Given the description of an element on the screen output the (x, y) to click on. 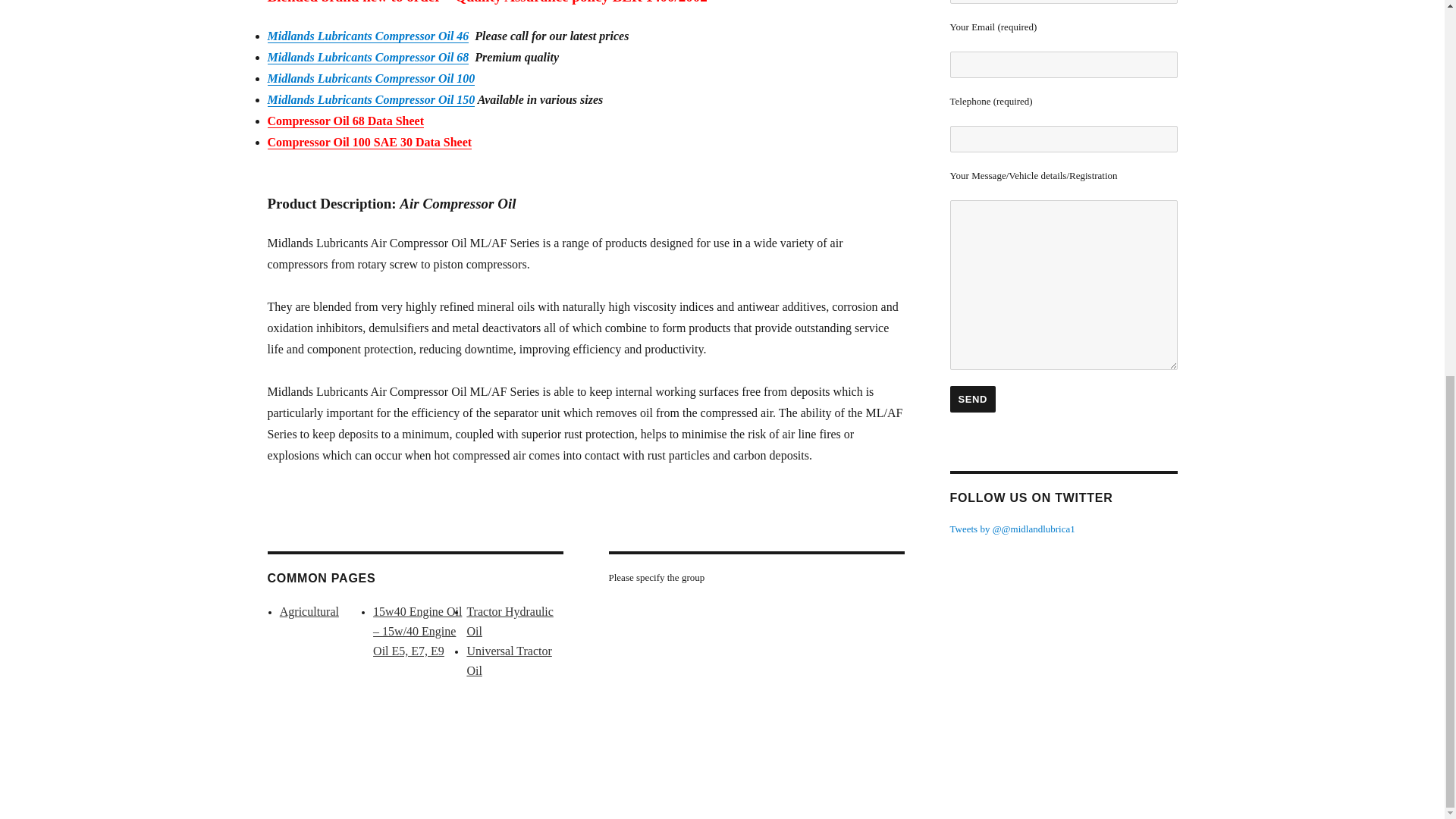
Compressor Oil 68 Data Sheet (344, 120)
Send (972, 398)
Midlands Lubricants Compressor Oil 150 (370, 99)
Midlands Lubricants Compressor Oil 100 (370, 78)
Compressor Oil 100 SAE 30 Data Sheet (368, 141)
Midlands Lubricants Compressor Oil 68 (367, 56)
Midlands Lubricants Compressor Oil 46 (367, 35)
Send (972, 398)
Universal Tractor Oil (508, 660)
Tractor Hydraulic Oil (509, 621)
Agricultural (309, 611)
